Given the description of an element on the screen output the (x, y) to click on. 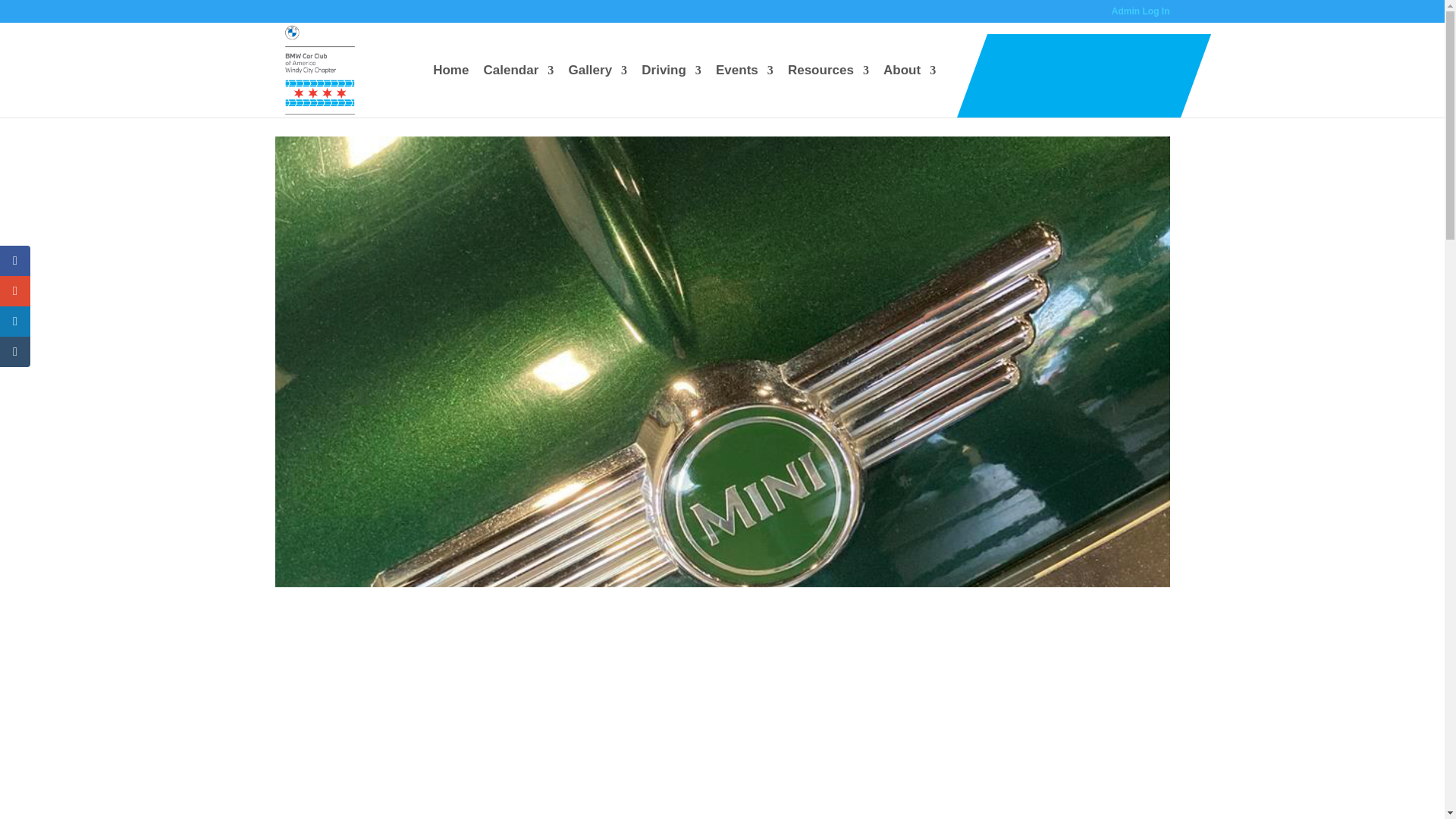
Gallery (597, 90)
About (909, 90)
Driving (671, 90)
Resources (828, 90)
Events (744, 90)
Calendar (518, 90)
Admin Log In (1141, 14)
